Given the description of an element on the screen output the (x, y) to click on. 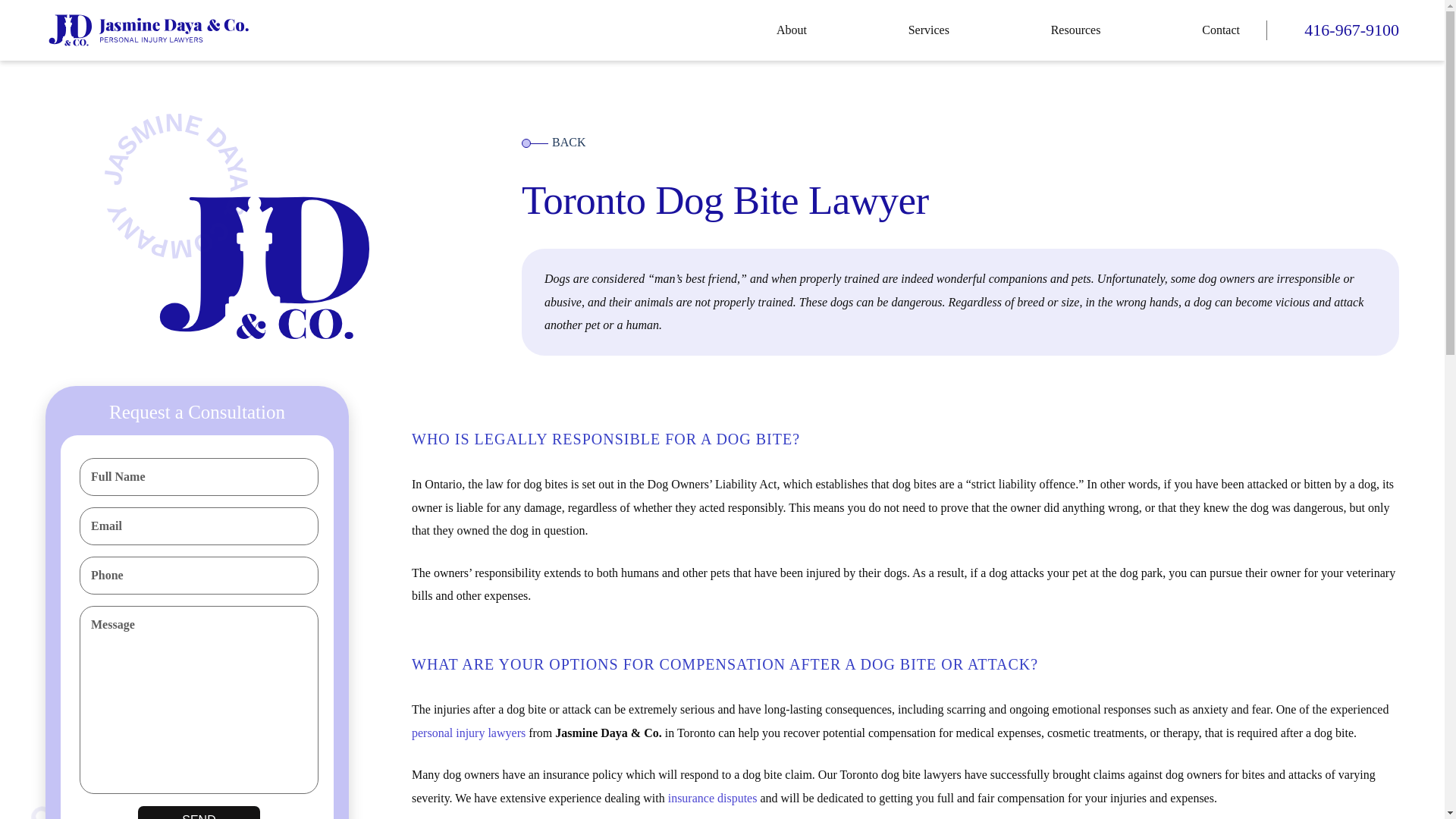
BACK (553, 141)
416-967-9100 (1351, 30)
personal injury lawyers (468, 732)
Services (928, 30)
Send (199, 812)
insurance disputes (712, 797)
Contact (1221, 30)
About (791, 30)
Resources (1075, 30)
Send (199, 812)
